Given the description of an element on the screen output the (x, y) to click on. 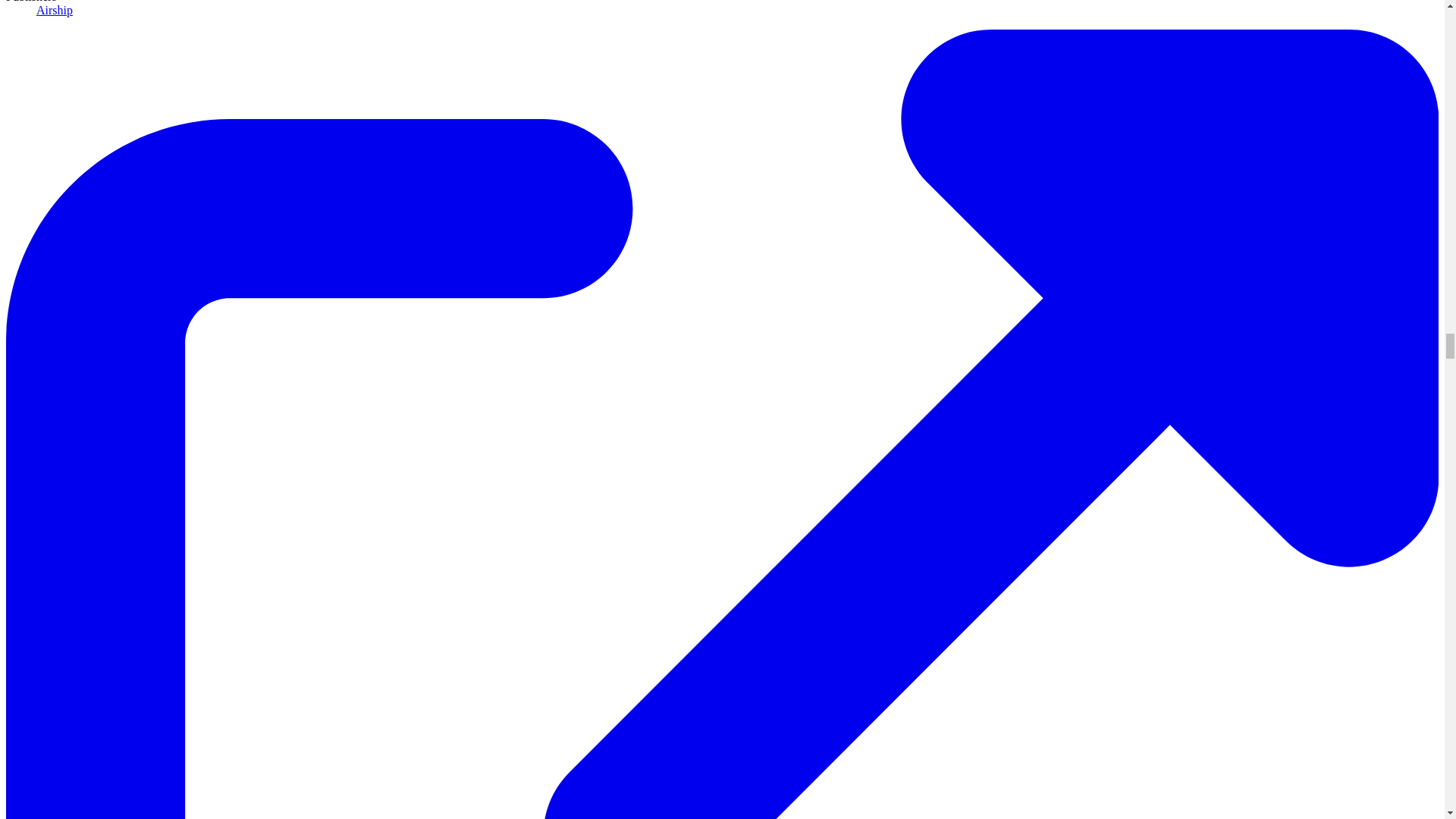
Airship (54, 10)
